Given the description of an element on the screen output the (x, y) to click on. 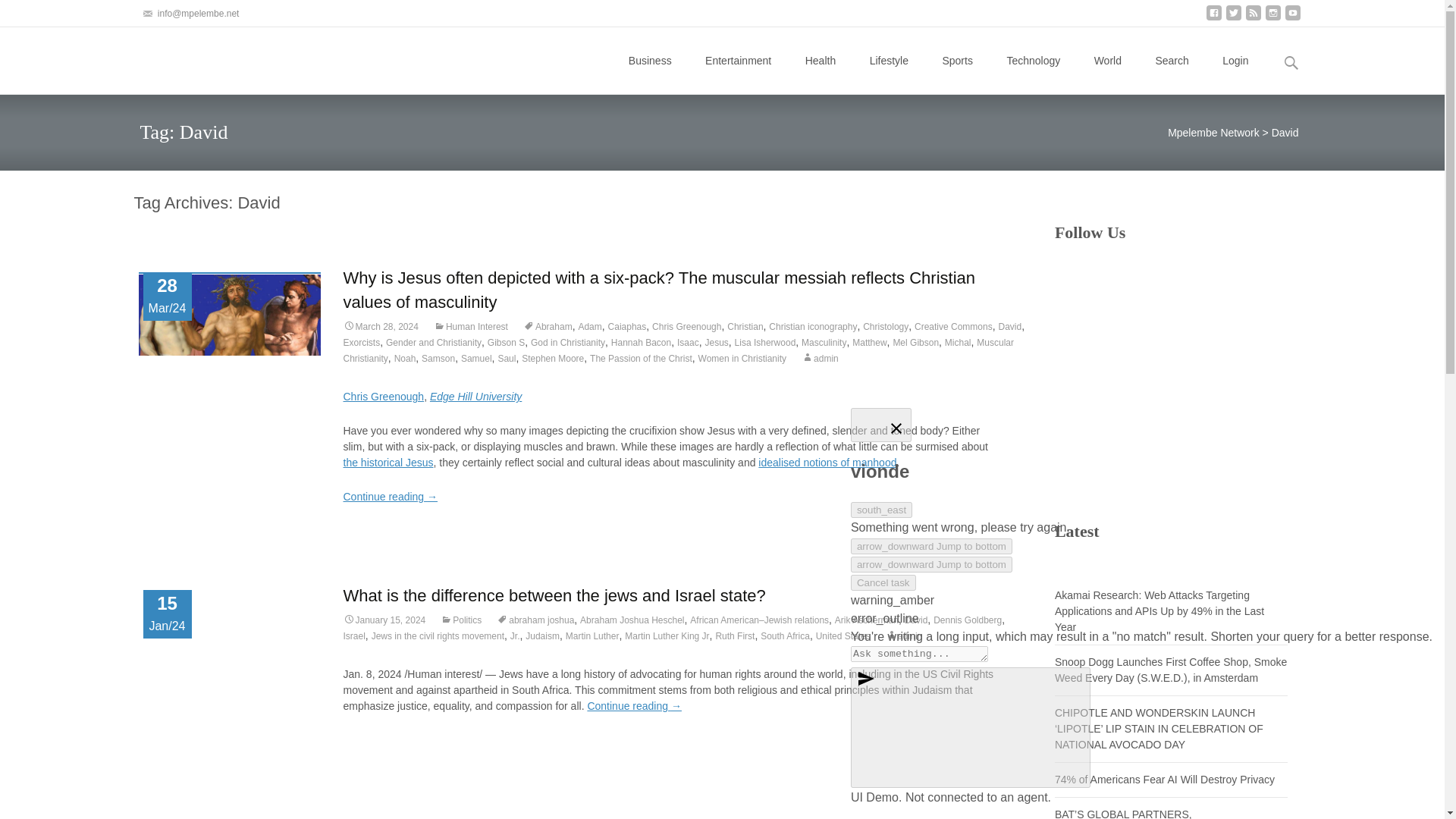
youtube (1292, 18)
twitter (1232, 18)
feed (1252, 18)
facebook (1213, 18)
Mpelembe Network (185, 57)
instagram (1272, 18)
View all posts by admin (820, 357)
View all posts by admin (904, 635)
Go to Mpelembe Network. (1213, 132)
Entertainment (737, 60)
